Given the description of an element on the screen output the (x, y) to click on. 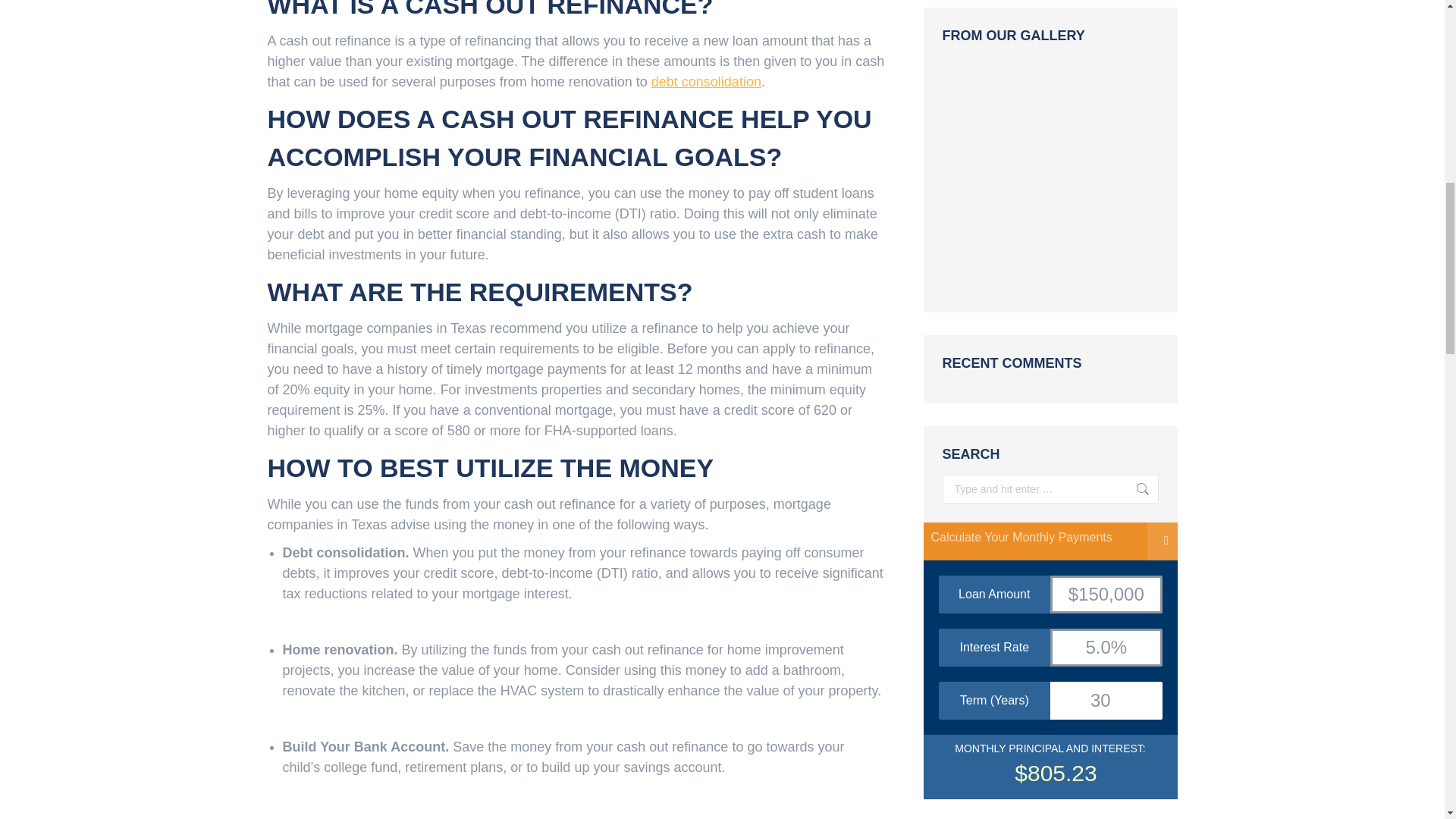
Go! (1135, 489)
30 (1105, 700)
Go! (1135, 489)
